Given the description of an element on the screen output the (x, y) to click on. 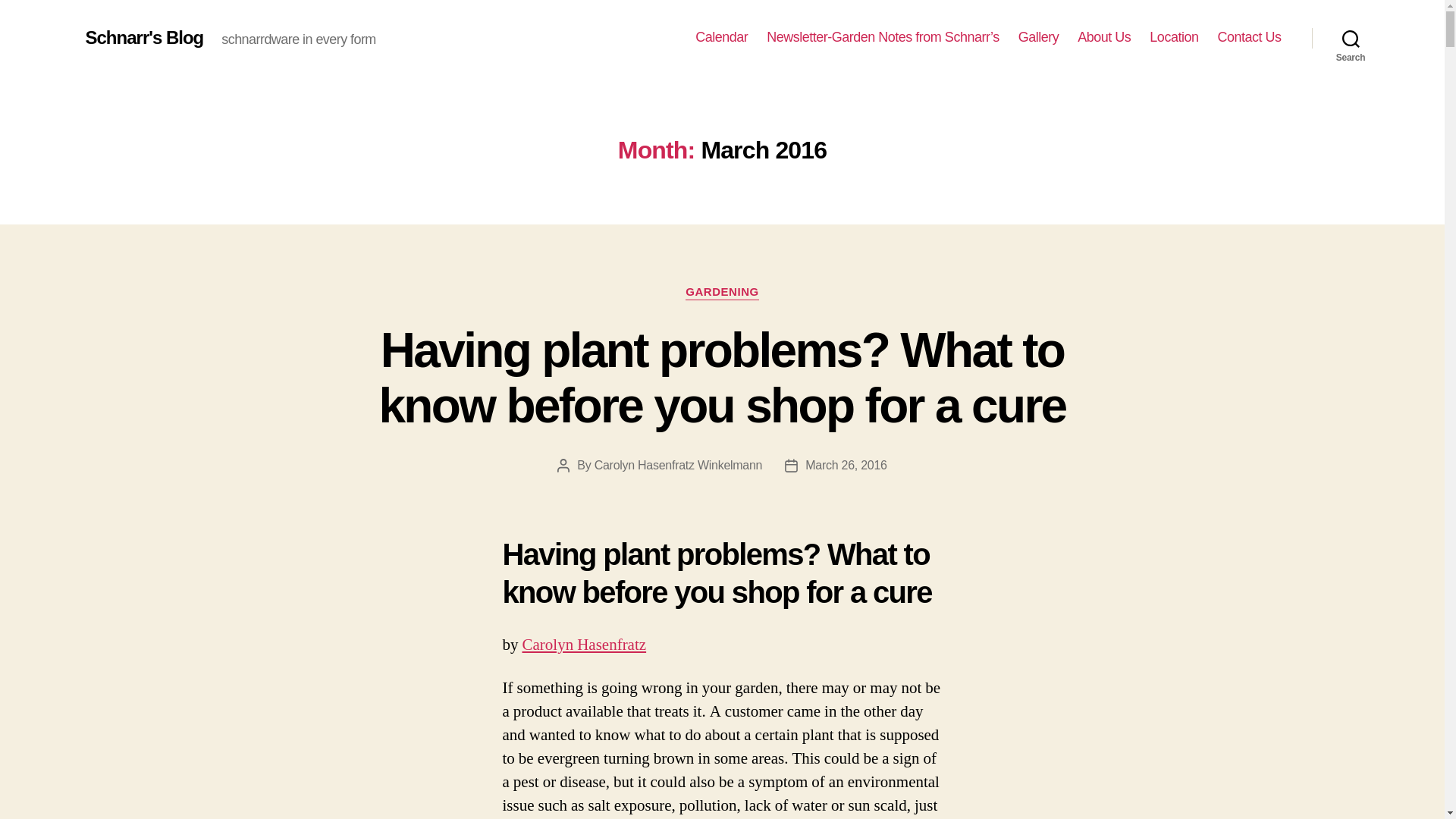
About Us (1104, 37)
Carolyn Hasenfratz (583, 644)
Calendar (721, 37)
Search (1350, 37)
Location (1174, 37)
Schnarr's Blog (143, 37)
GARDENING (721, 292)
March 26, 2016 (845, 464)
Carolyn Hasenfratz Winkelmann (678, 464)
Contact Us (1249, 37)
Gallery (1038, 37)
